Given the description of an element on the screen output the (x, y) to click on. 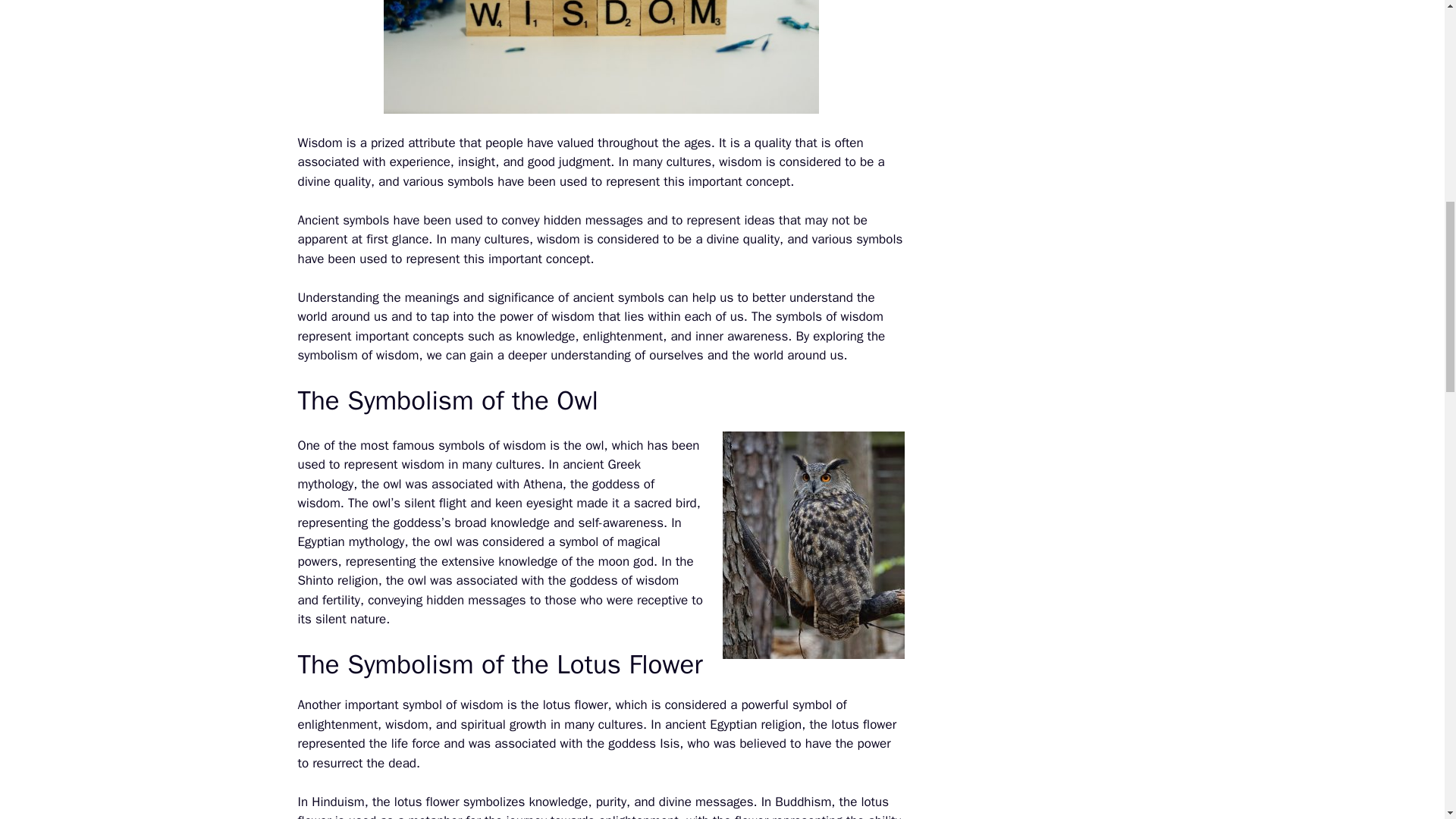
Scroll back to top (1406, 720)
